Given the description of an element on the screen output the (x, y) to click on. 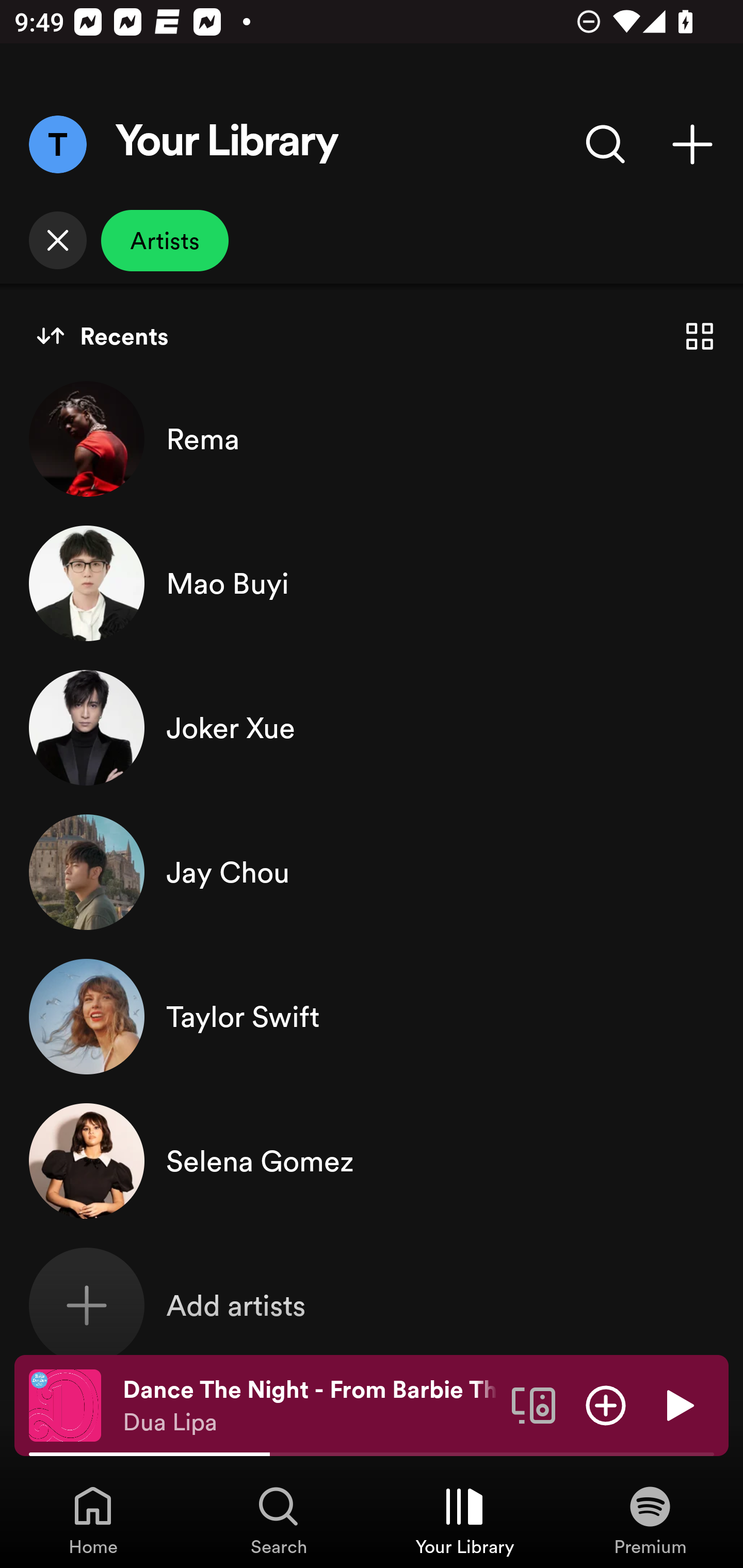
Menu (57, 144)
Search Your Library (605, 144)
Create playlist (692, 144)
Your Library Your Library Heading (226, 144)
Clear Filters (57, 240)
Artists, show only artists. (164, 240)
Recents (101, 336)
Show Grid view (699, 336)
Rema,  Rema (371, 439)
Mao Buyi,  Mao Buyi (371, 583)
Joker Xue,  Joker Xue (371, 727)
Jay Chou,  Jay Chou (371, 871)
Taylor Swift,  Taylor Swift (371, 1016)
Selena Gomez,  Selena Gomez (371, 1160)
Add artists,  Add artists (371, 1305)
Dance The Night - From Barbie The Album Dua Lipa (309, 1405)
The cover art of the currently playing track (64, 1404)
Connect to a device. Opens the devices menu (533, 1404)
Add item (605, 1404)
Play (677, 1404)
Home, Tab 1 of 4 Home Home (92, 1519)
Search, Tab 2 of 4 Search Search (278, 1519)
Your Library, Tab 3 of 4 Your Library Your Library (464, 1519)
Premium, Tab 4 of 4 Premium Premium (650, 1519)
